Given the description of an element on the screen output the (x, y) to click on. 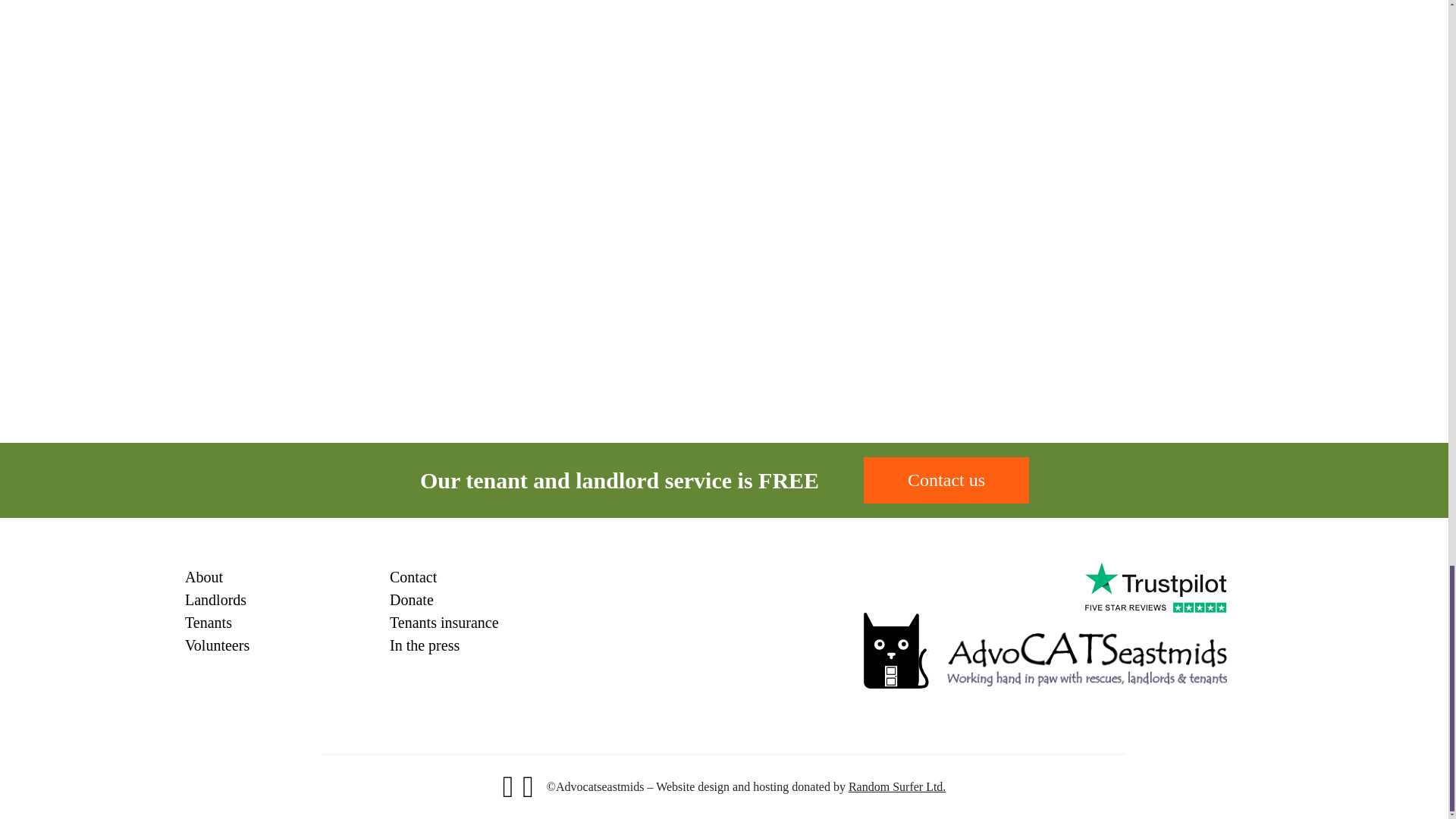
About (203, 576)
Contact (413, 576)
Donate (411, 599)
Volunteers (216, 645)
Contact us (945, 479)
Tenants (207, 622)
Landlords (215, 599)
